Given the description of an element on the screen output the (x, y) to click on. 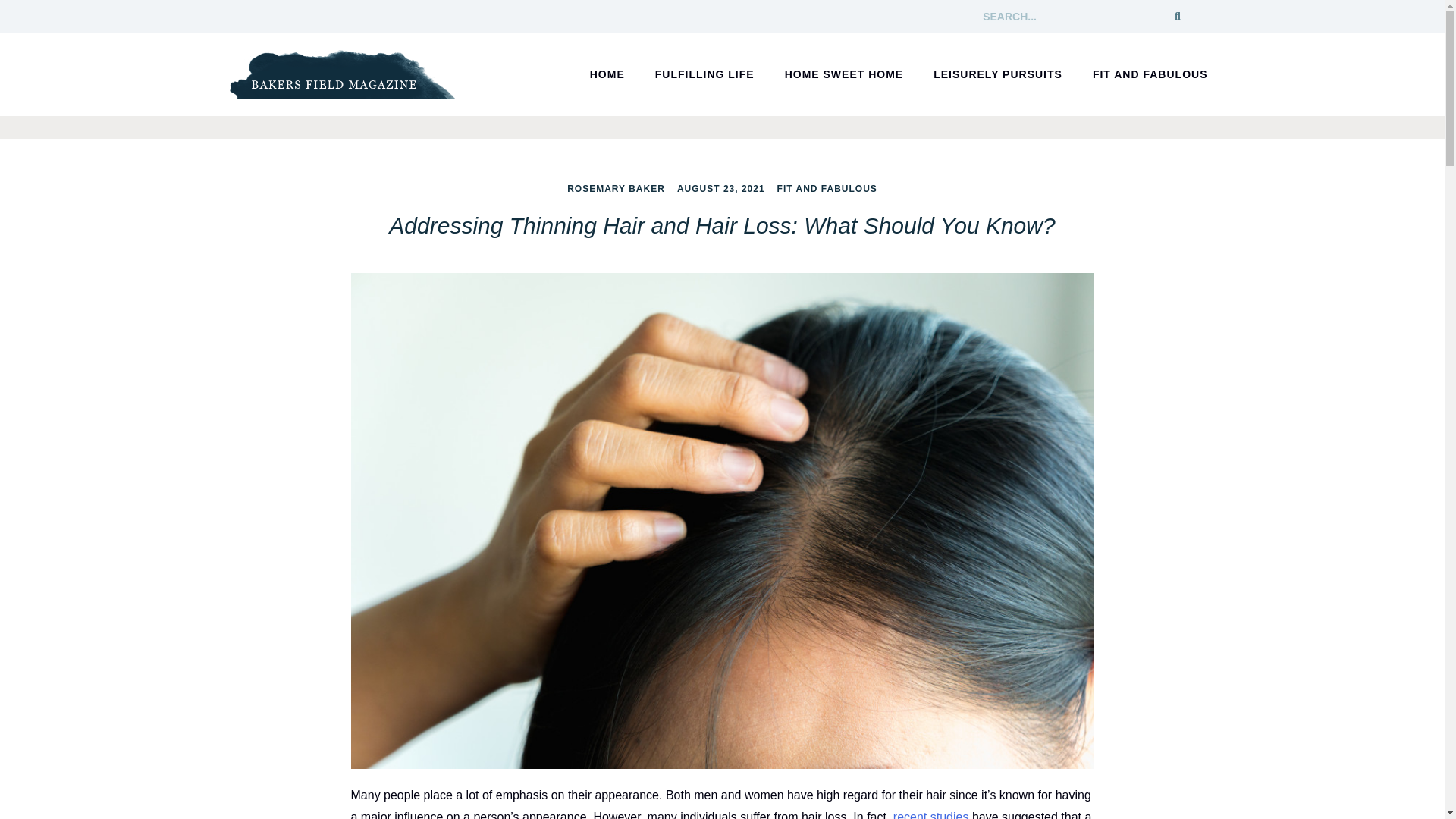
Search (1177, 16)
ROSEMARY BAKER (616, 188)
FIT AND FABULOUS (827, 188)
FIT AND FABULOUS (1150, 74)
LEISURELY PURSUITS (997, 74)
HOME SWEET HOME (844, 74)
recent studies (931, 814)
AUGUST 23, 2021 (721, 188)
FULFILLING LIFE (704, 74)
HOME (606, 74)
